Given the description of an element on the screen output the (x, y) to click on. 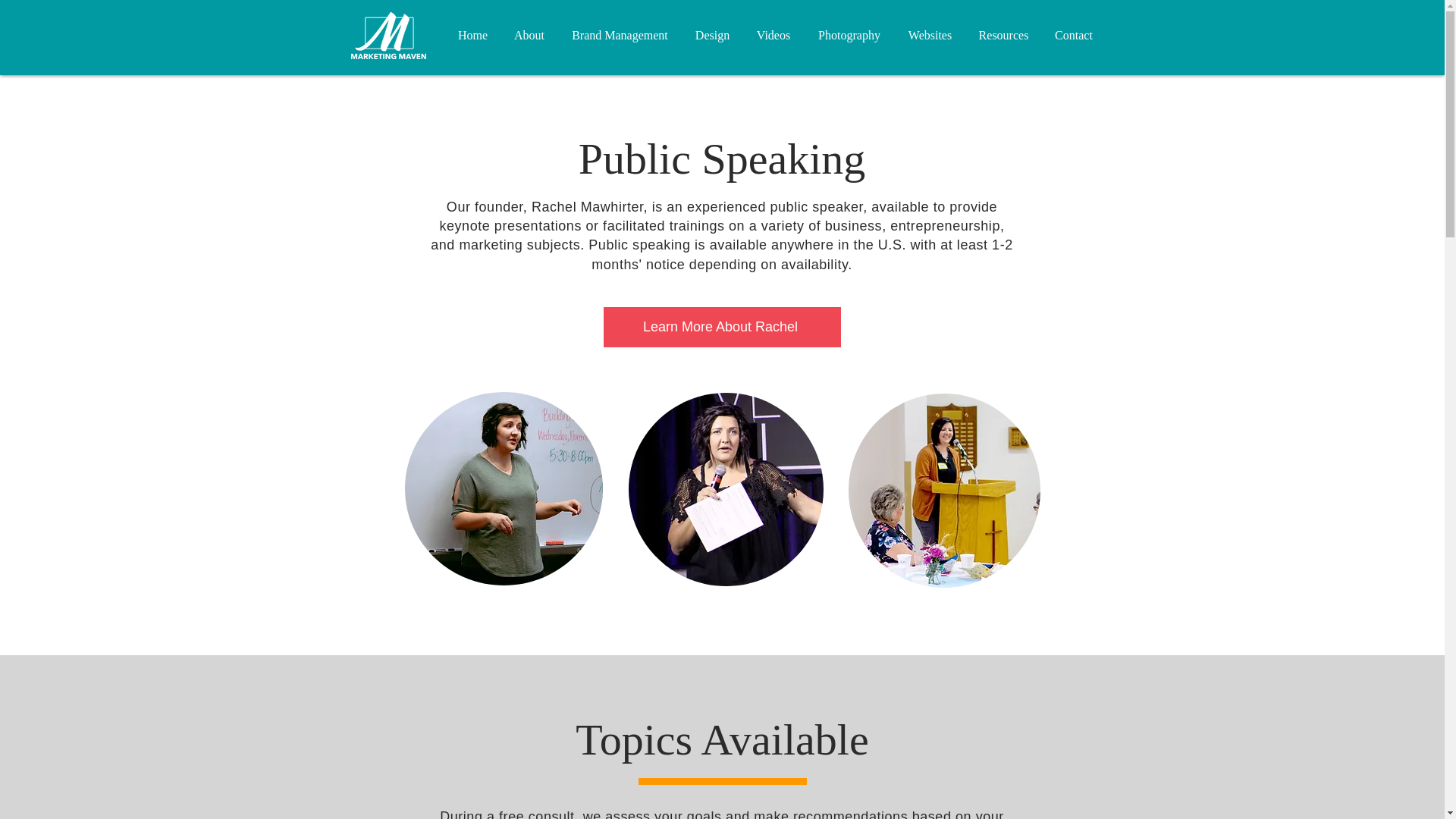
Websites (930, 35)
Contact (1074, 35)
Photography (848, 35)
About (528, 35)
Videos (773, 35)
Design (712, 35)
Brand Management (619, 35)
Learn More About Rachel (722, 327)
Home (472, 35)
